Given the description of an element on the screen output the (x, y) to click on. 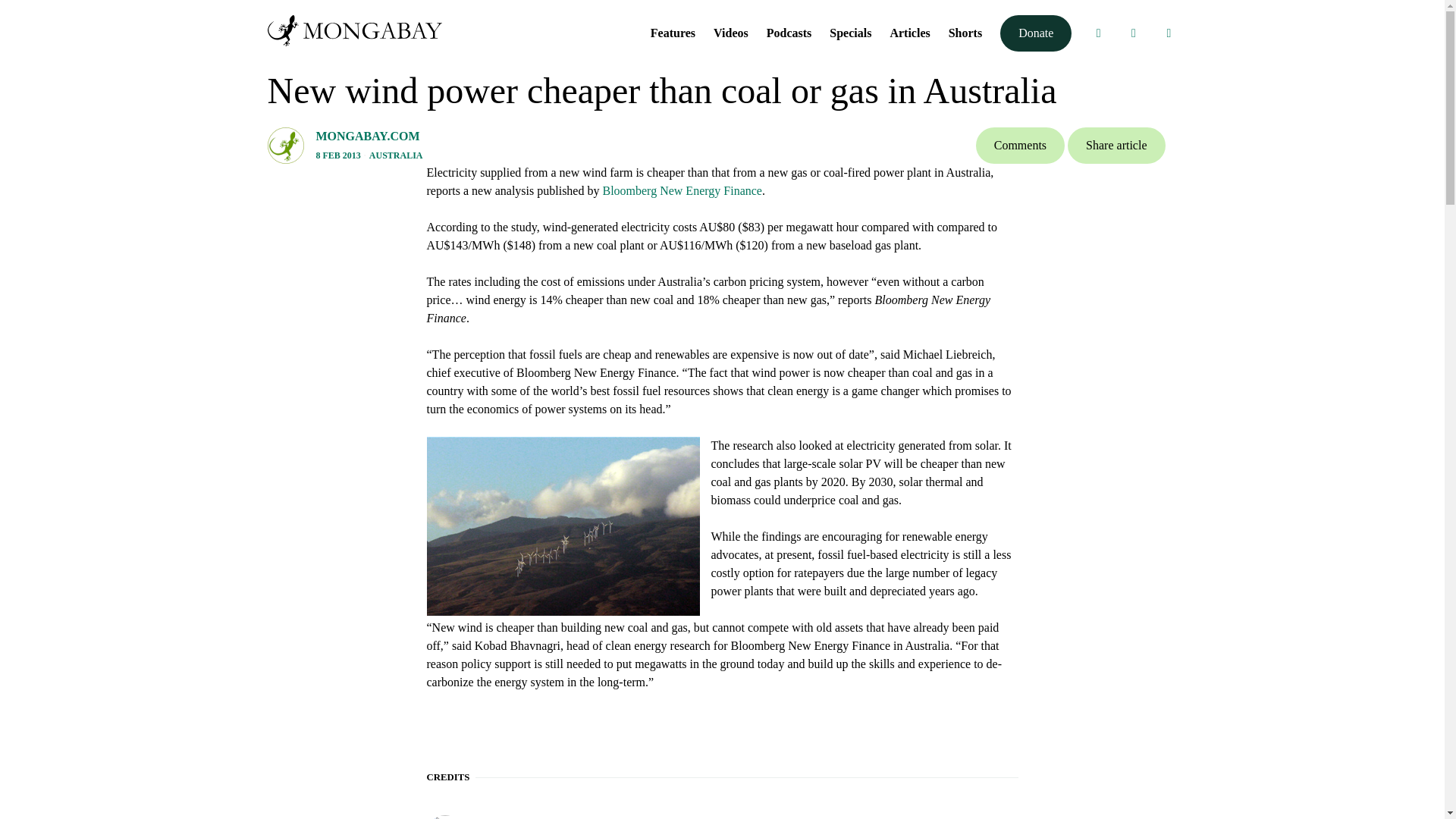
Features (672, 32)
Videos (730, 32)
Posts by Rhett Butler (507, 816)
Articles (909, 32)
Donate (1035, 33)
Specials (849, 32)
Podcasts (789, 32)
Shorts (965, 32)
